Given the description of an element on the screen output the (x, y) to click on. 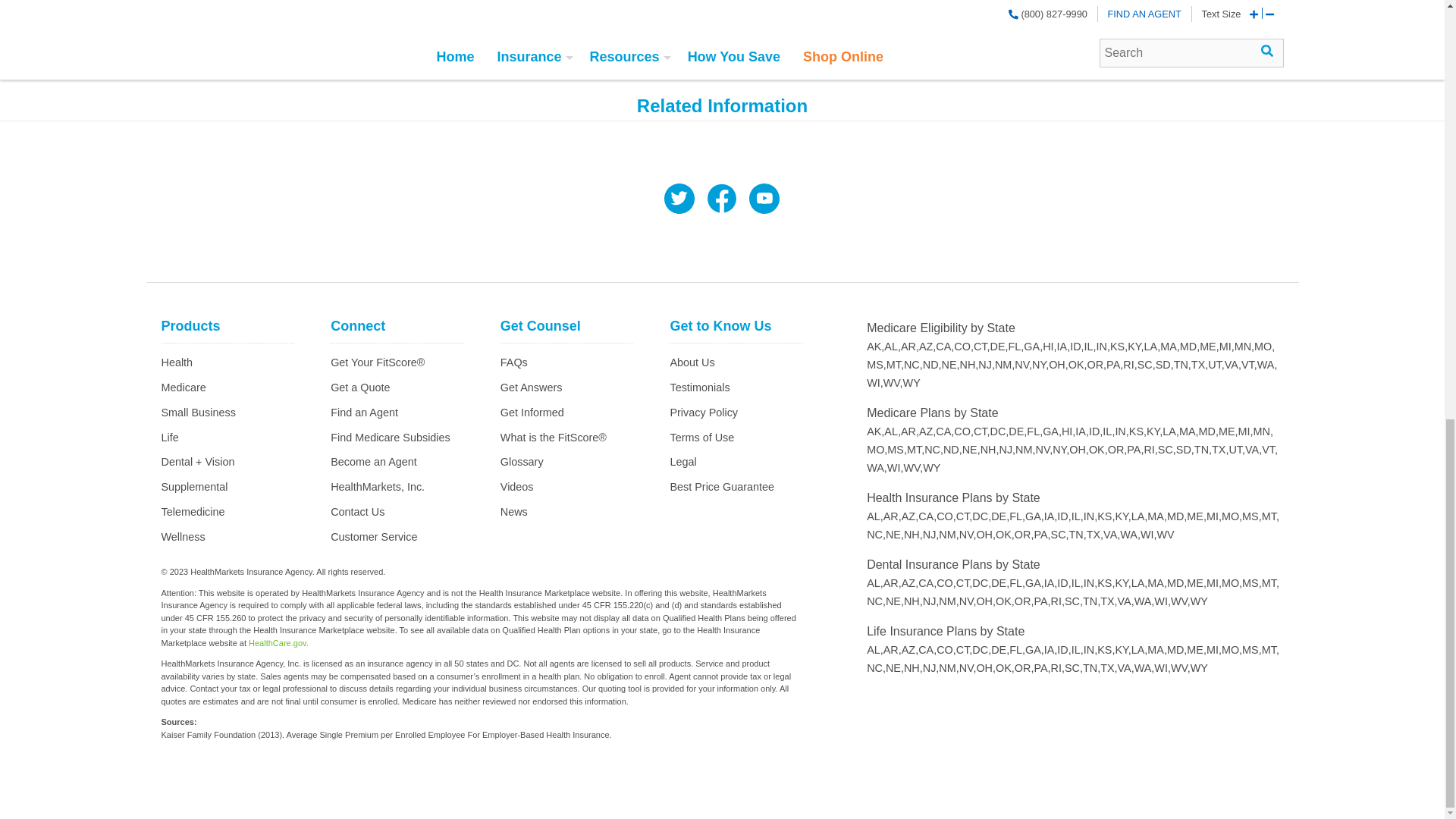
Medicare Eligibility in Arkansas (909, 346)
YouTube (764, 200)
Medicare Eligibility in Florida (1017, 346)
Medicare Eligibility in Idaho (1076, 346)
Twitter (679, 200)
Medicare Eligibility in Delaware (999, 346)
Medicare Eligibility in Connecticut (982, 346)
Medicare Eligibility in Georgia (1032, 346)
Medicare Eligibility in Illinois (1090, 346)
Medicare Eligibility in Indiana (1102, 346)
Medicare Eligibility in Arizona (927, 346)
Medicare Eligibility in California (944, 346)
Facebook (721, 200)
Medicare Eligibility in Alabama (892, 346)
Medicare Eligibility in Alaska (874, 346)
